Given the description of an element on the screen output the (x, y) to click on. 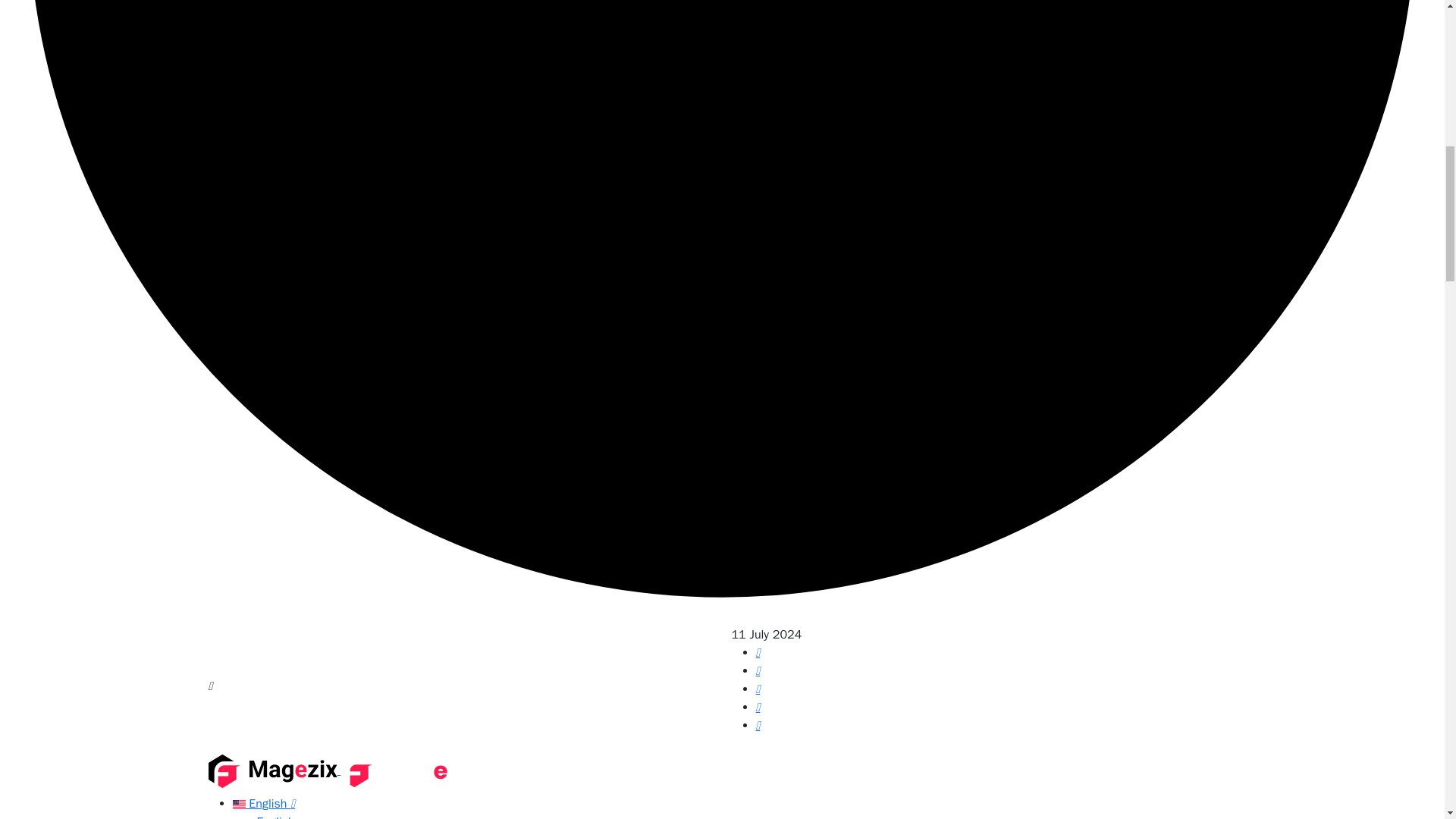
English (263, 803)
English (275, 816)
